Given the description of an element on the screen output the (x, y) to click on. 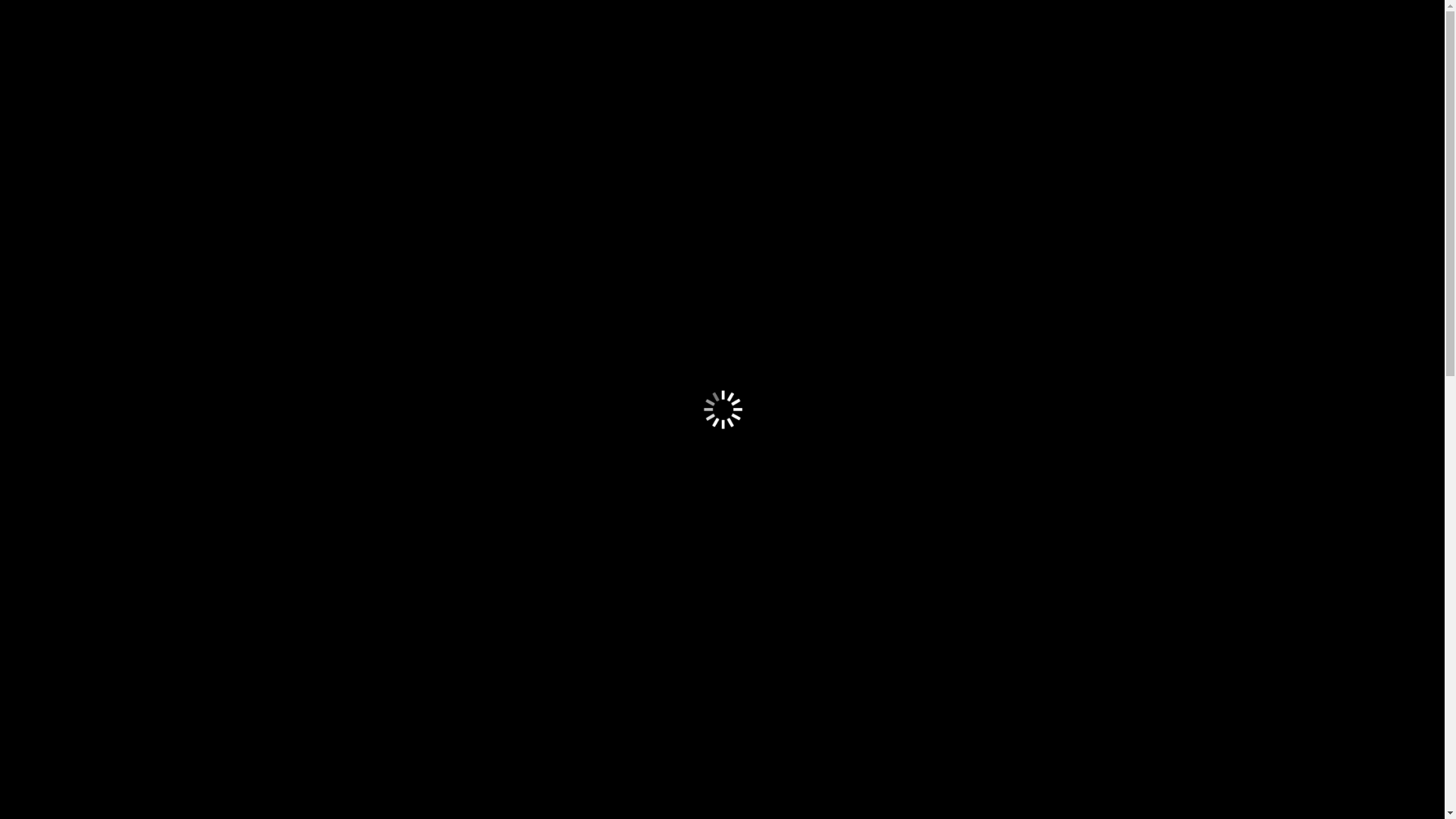
Rechercher: Element type: hover (74, 218)
Darempred Element type: text (695, 171)
Degemer Element type: text (72, 171)
Hag a nevez Element type: text (248, 346)
Deiziataer Element type: text (605, 171)
Menu Element type: text (189, 315)
Amzer dremenet Element type: text (315, 171)
Ti Ar Medisin Element type: text (291, 718)
E galleg Element type: hover (774, 171)
Kevredigezh Element type: text (164, 171)
